Given the description of an element on the screen output the (x, y) to click on. 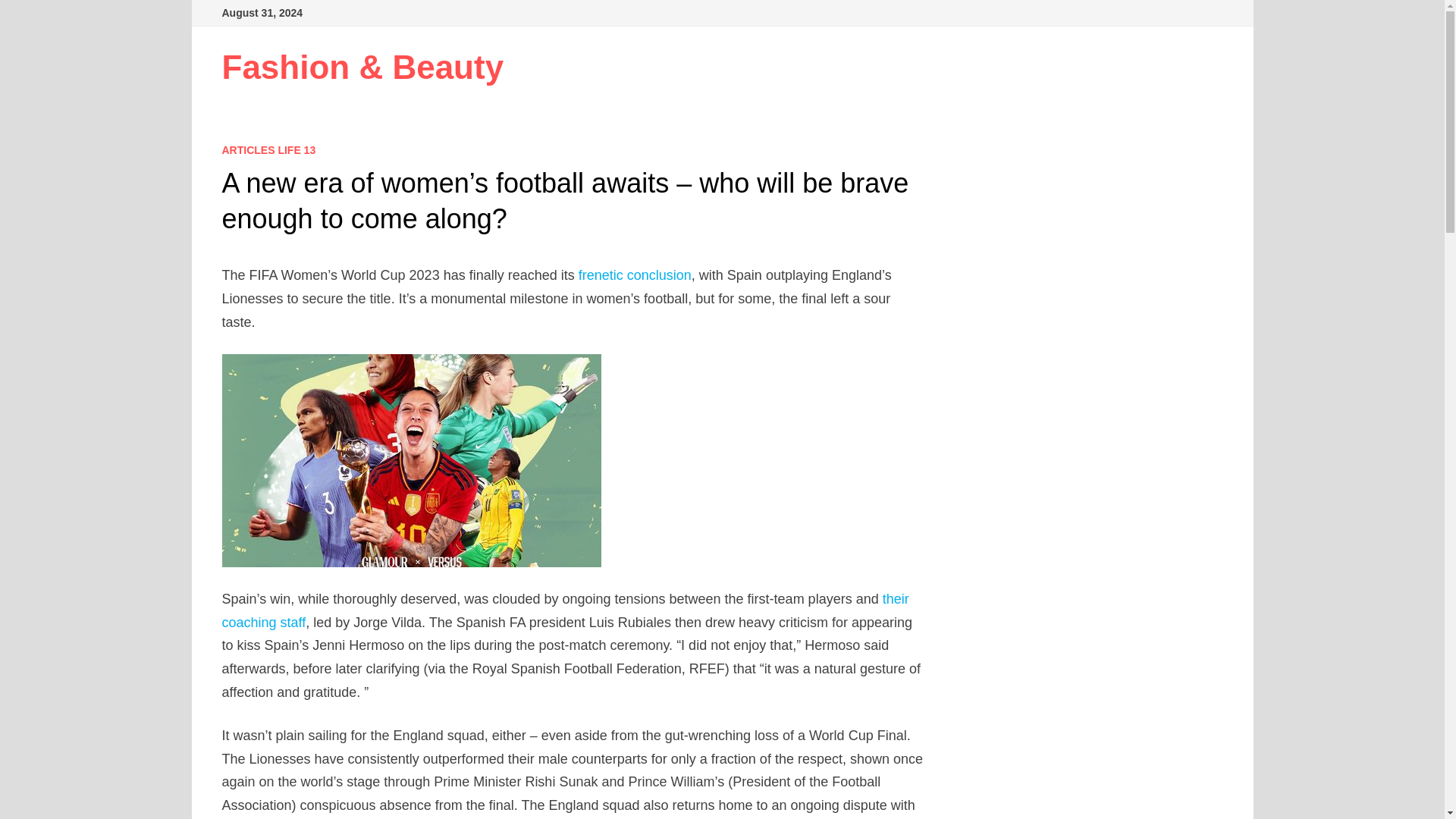
ARTICLES LIFE 13 (268, 150)
their coaching staff (564, 610)
frenetic conclusion (634, 274)
